Given the description of an element on the screen output the (x, y) to click on. 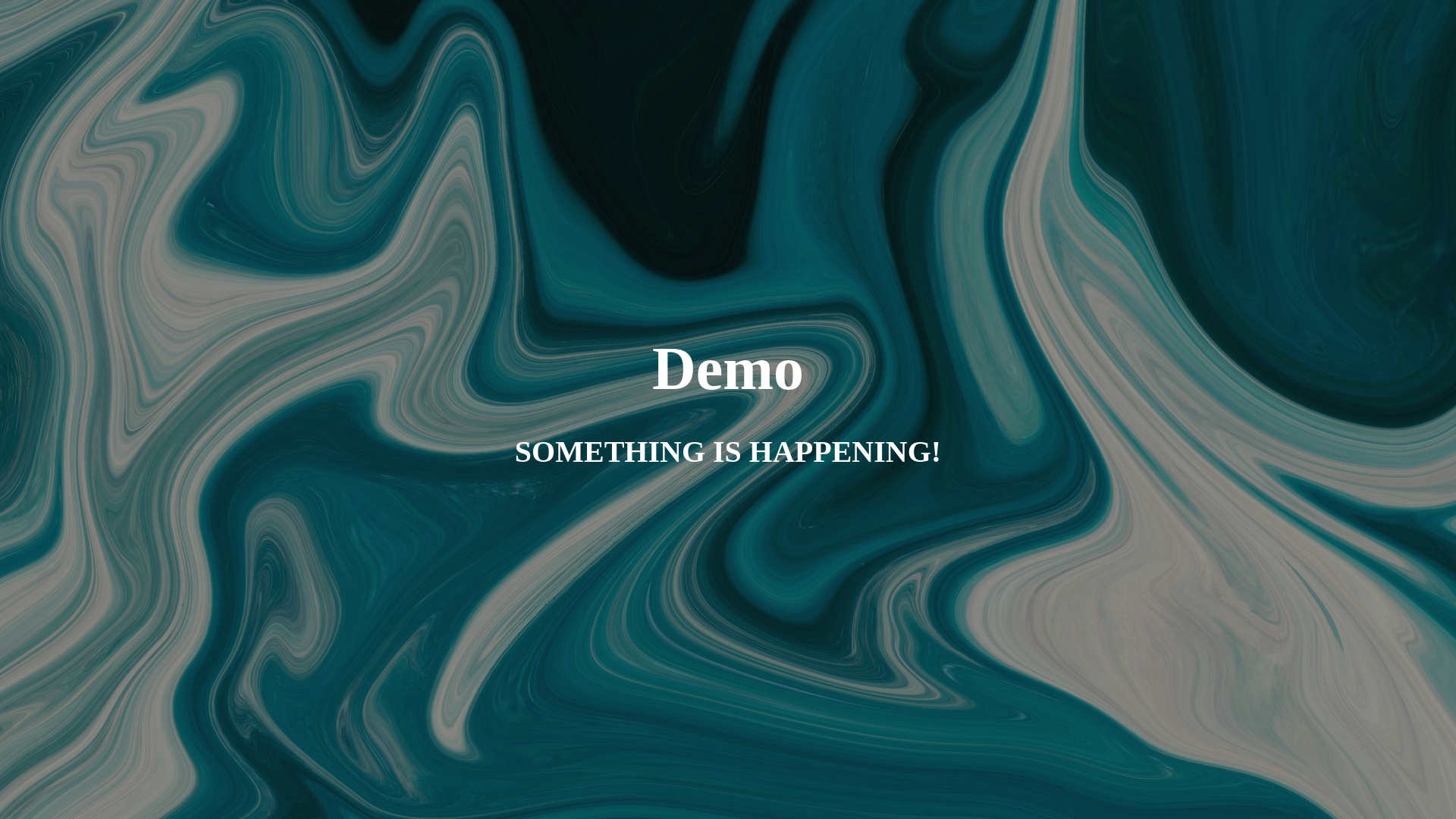
Demo Element type: text (727, 378)
